Given the description of an element on the screen output the (x, y) to click on. 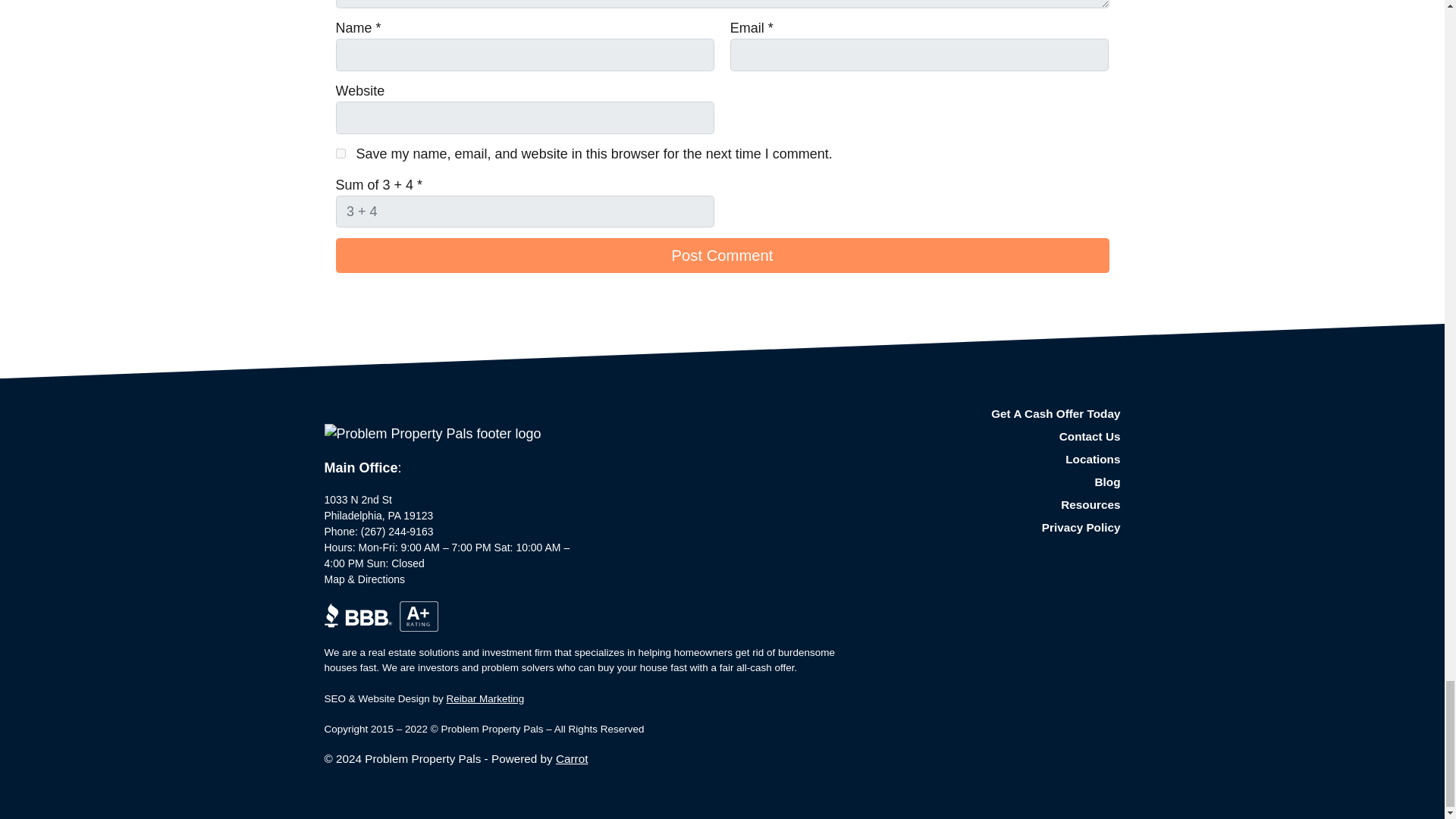
Privacy Policy (995, 527)
Locations (995, 458)
Blog (995, 481)
Post Comment (721, 255)
Contact Us (995, 436)
yes (339, 153)
Reibar Marketing (485, 698)
Get A Cash Offer Today (995, 413)
Carrot (572, 758)
Post Comment (721, 255)
